Given the description of an element on the screen output the (x, y) to click on. 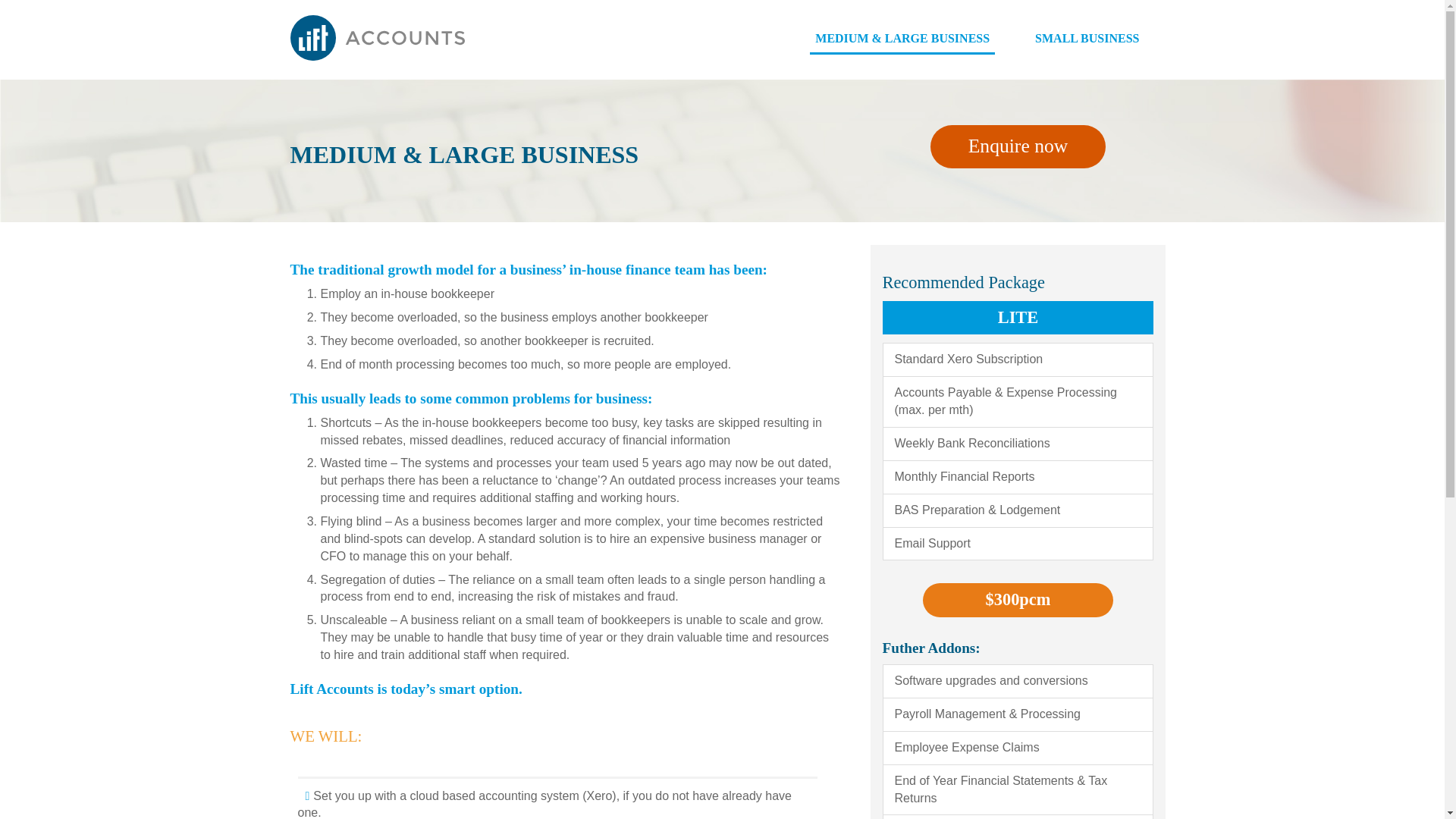
Enquire now Element type: text (1018, 146)
SMALL BUSINESS Element type: text (1086, 38)
MEDIUM & LARGE BUSINESS Element type: text (901, 39)
